Given the description of an element on the screen output the (x, y) to click on. 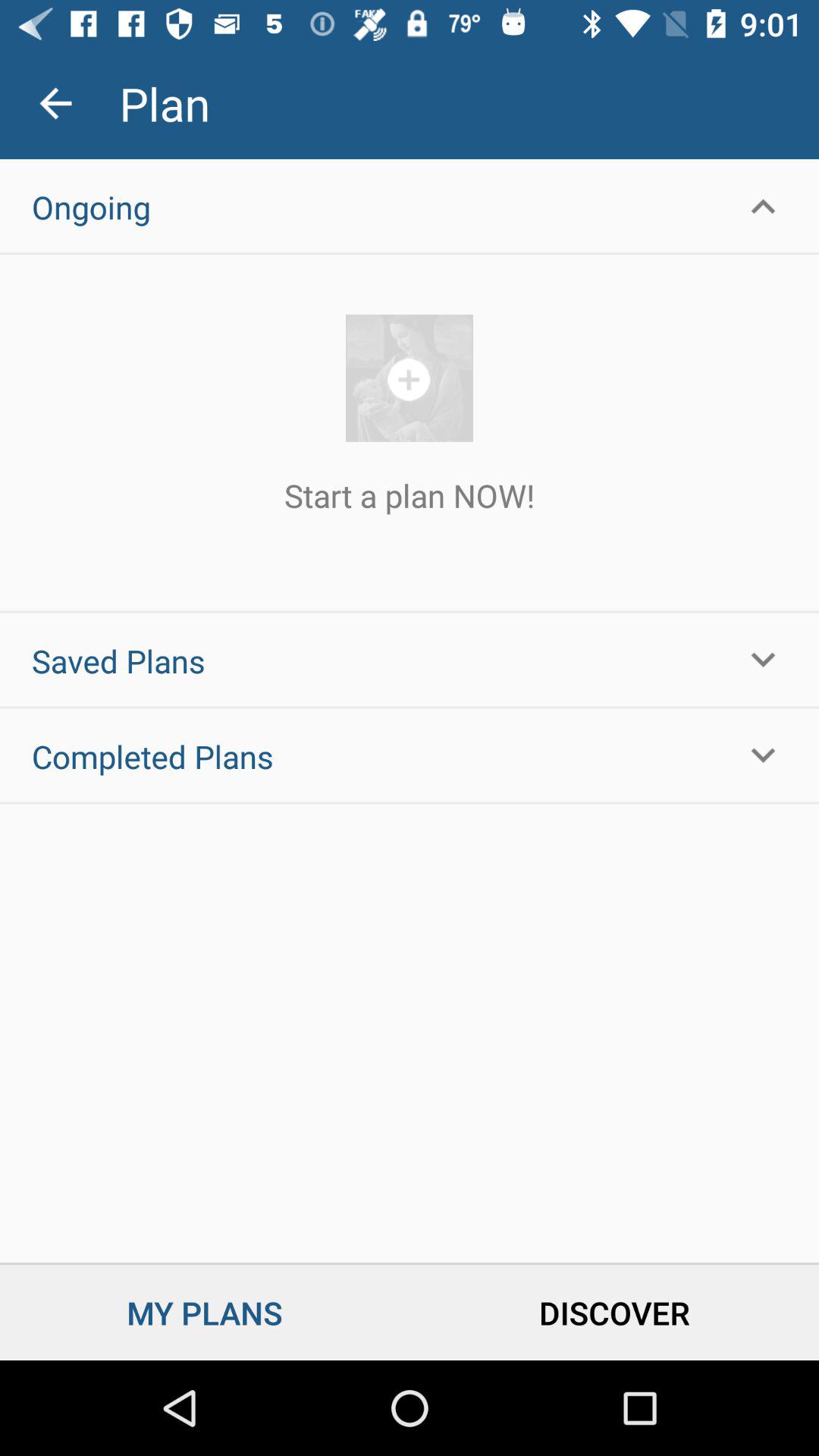
add profile picture (409, 377)
